Given the description of an element on the screen output the (x, y) to click on. 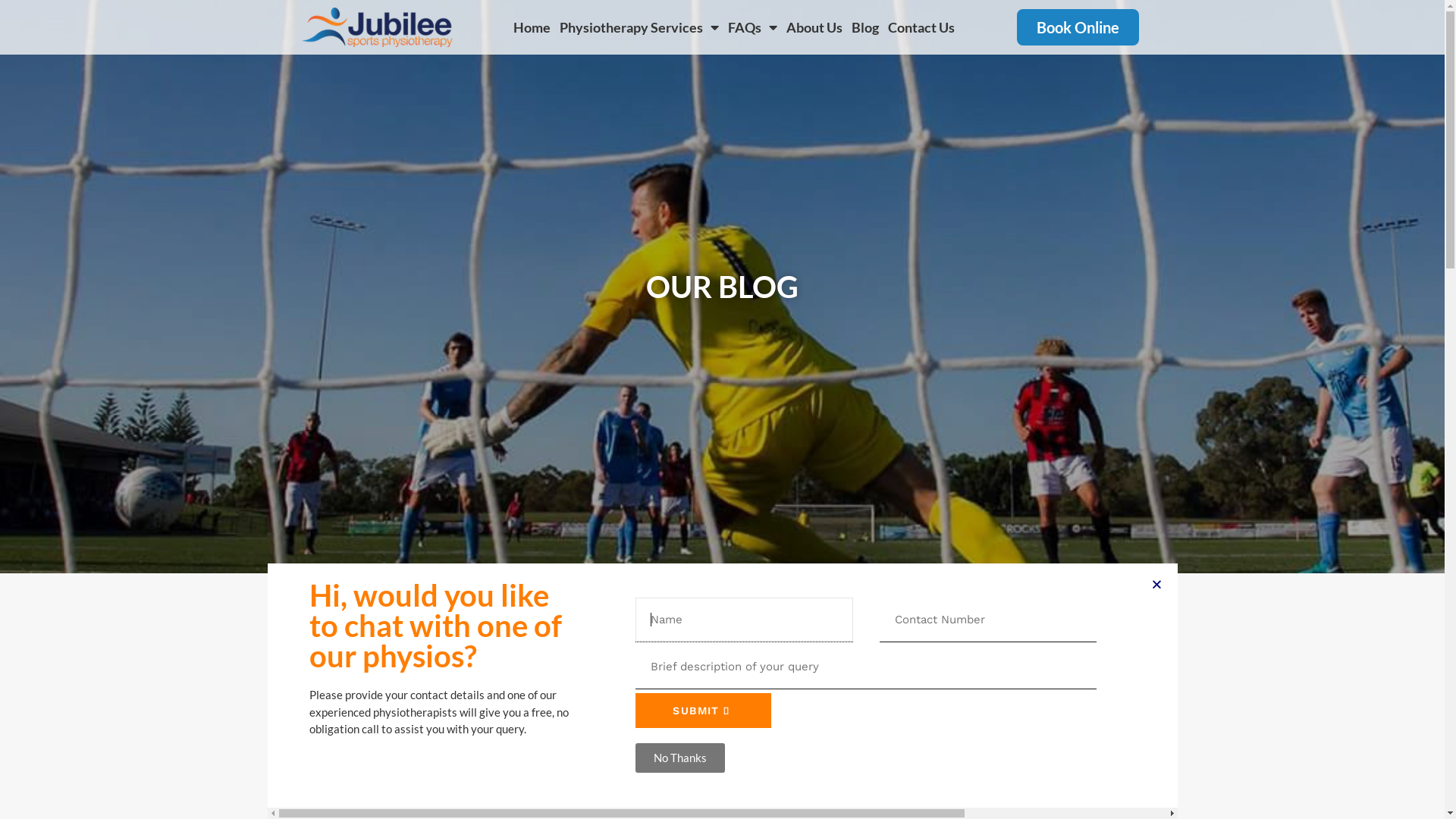
FAQs Element type: text (752, 26)
Book Online Element type: text (1077, 27)
Physiotherapy Services Element type: text (639, 26)
Home Element type: text (531, 26)
Blog Element type: text (865, 26)
Contact Us Element type: text (921, 26)
About Us Element type: text (814, 26)
